Given the description of an element on the screen output the (x, y) to click on. 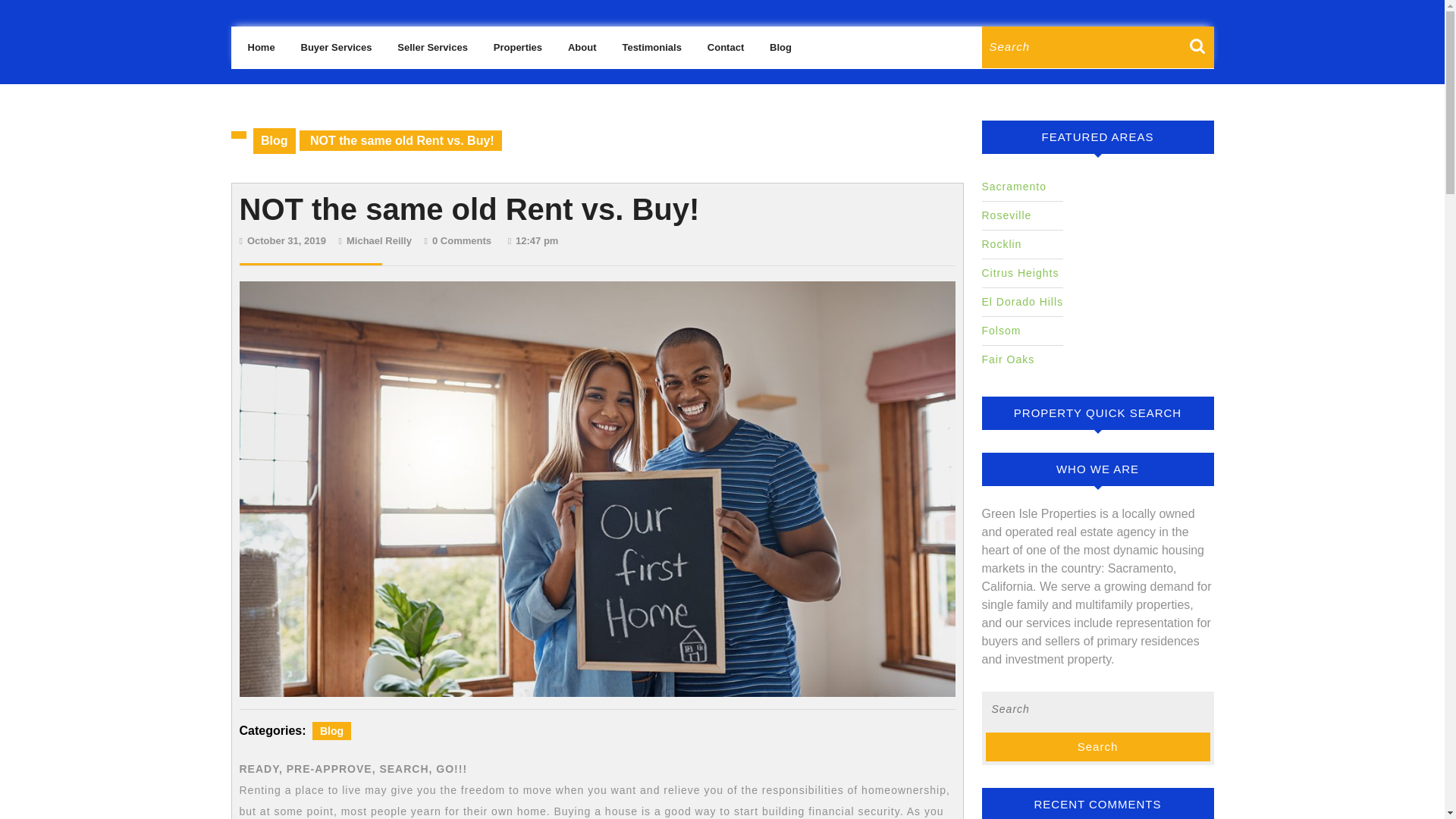
Search (1200, 53)
Search (1200, 53)
Blog (274, 140)
Properties (517, 47)
Search (379, 240)
Testimonials (1200, 53)
Buyer Services (651, 47)
Search (336, 47)
About (1097, 747)
Contact (582, 47)
Blog (725, 47)
Home (286, 240)
Blog (331, 730)
